Given the description of an element on the screen output the (x, y) to click on. 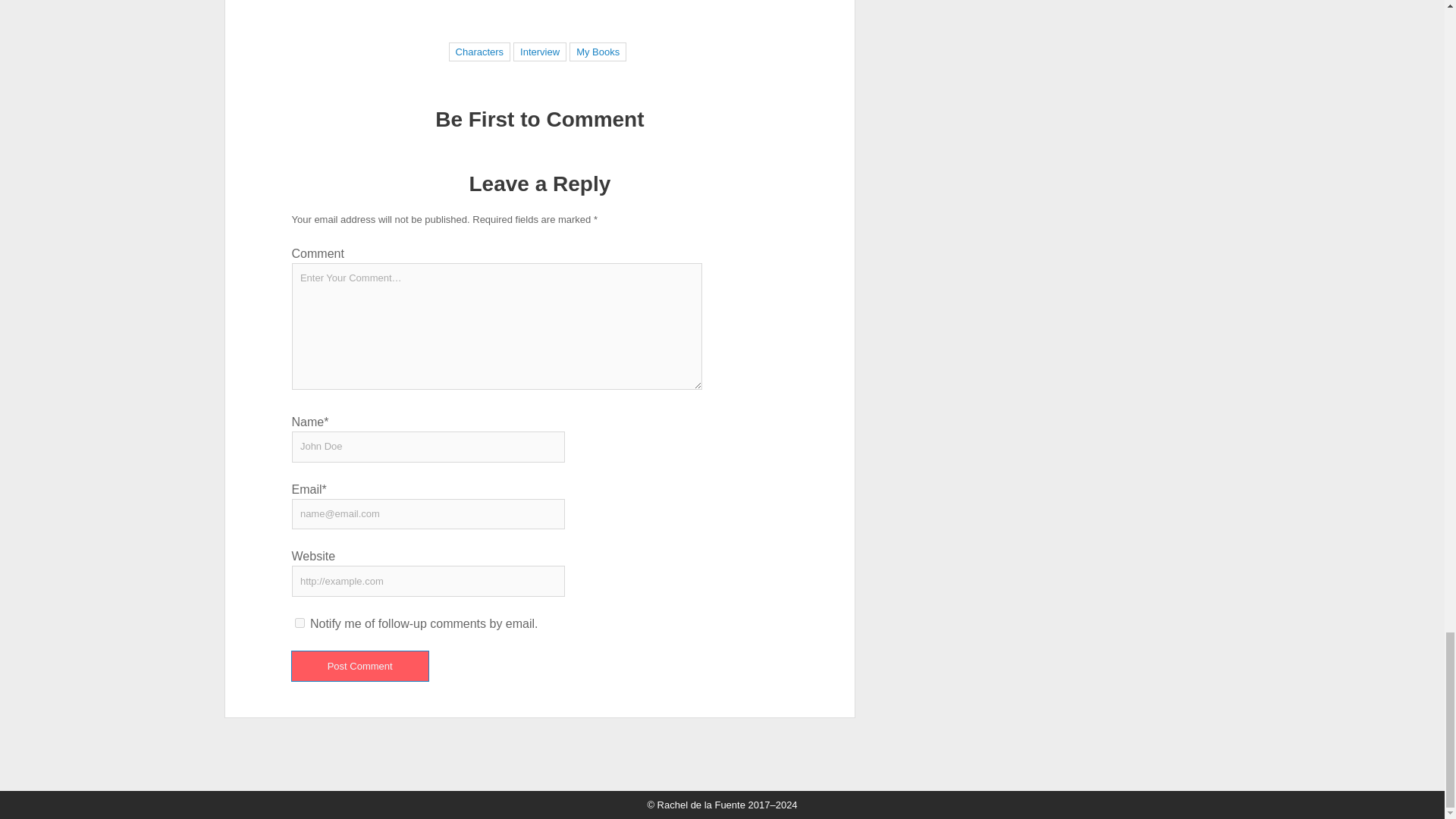
Post Comment (360, 665)
Interview (539, 51)
Characters (480, 51)
subscribe (299, 623)
My Books (598, 51)
Post Comment (360, 665)
